Given the description of an element on the screen output the (x, y) to click on. 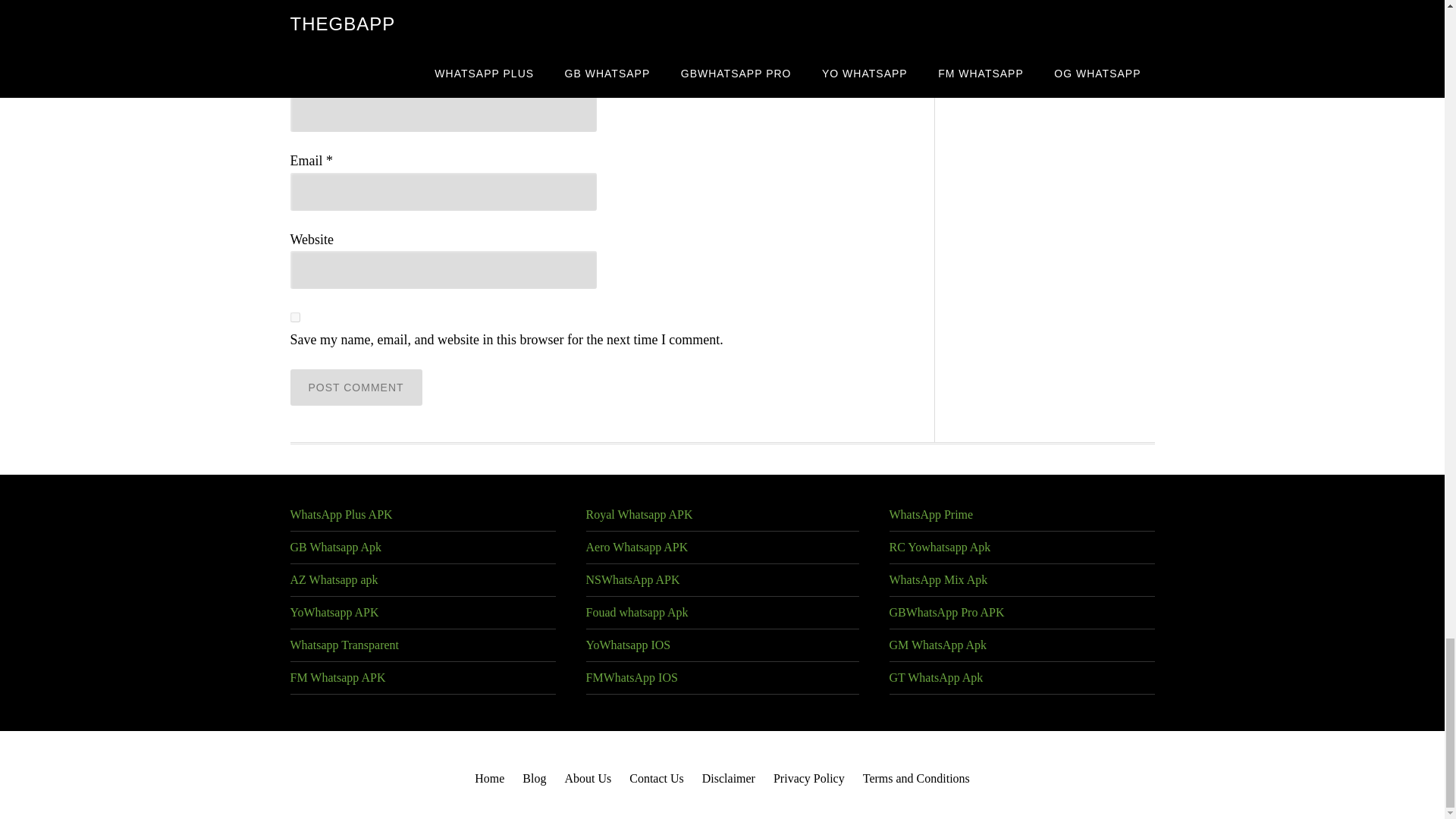
yes (294, 317)
Post Comment (355, 387)
Post Comment (355, 387)
